Given the description of an element on the screen output the (x, y) to click on. 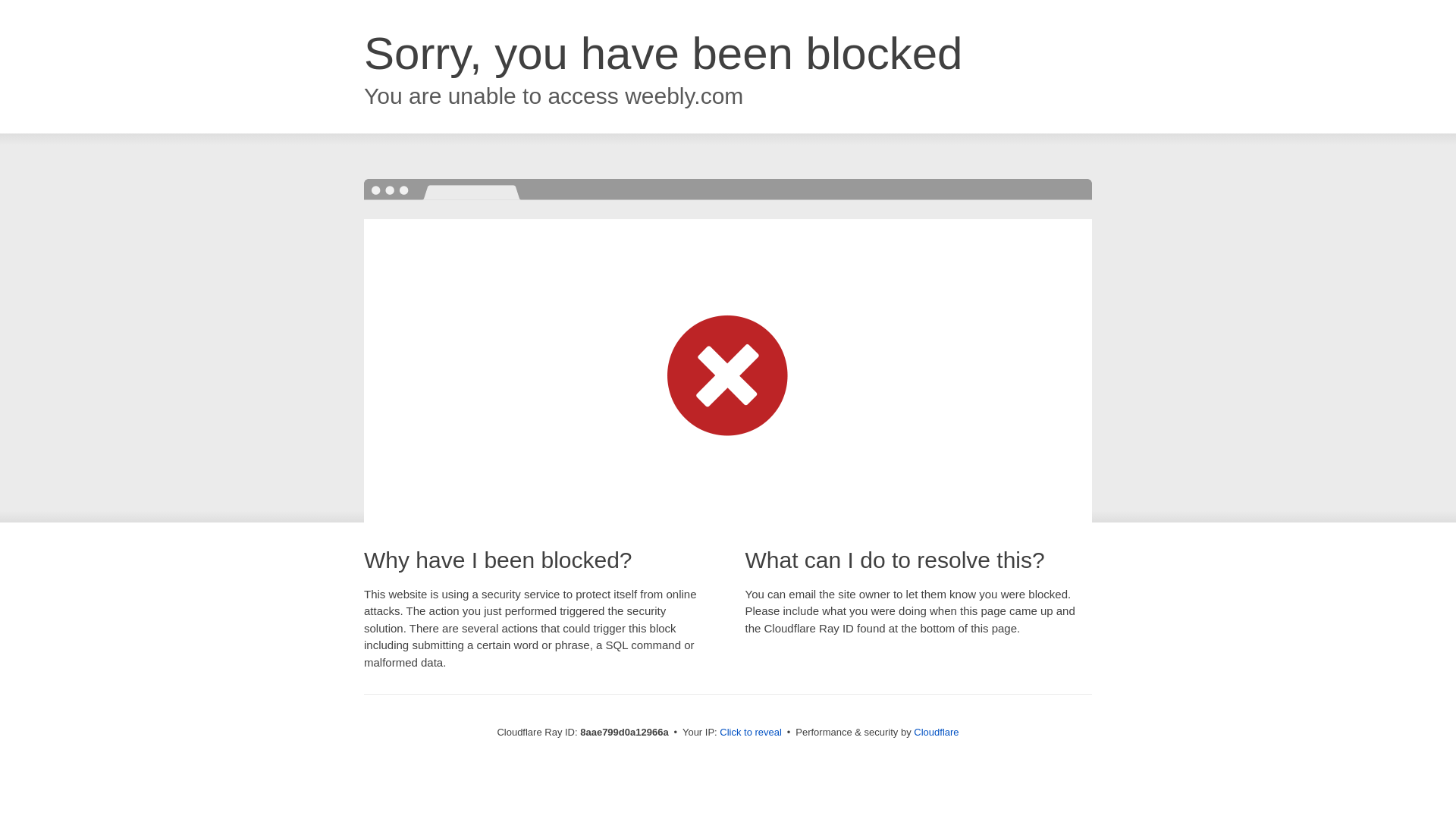
Click to reveal (750, 732)
Cloudflare (936, 731)
